Given the description of an element on the screen output the (x, y) to click on. 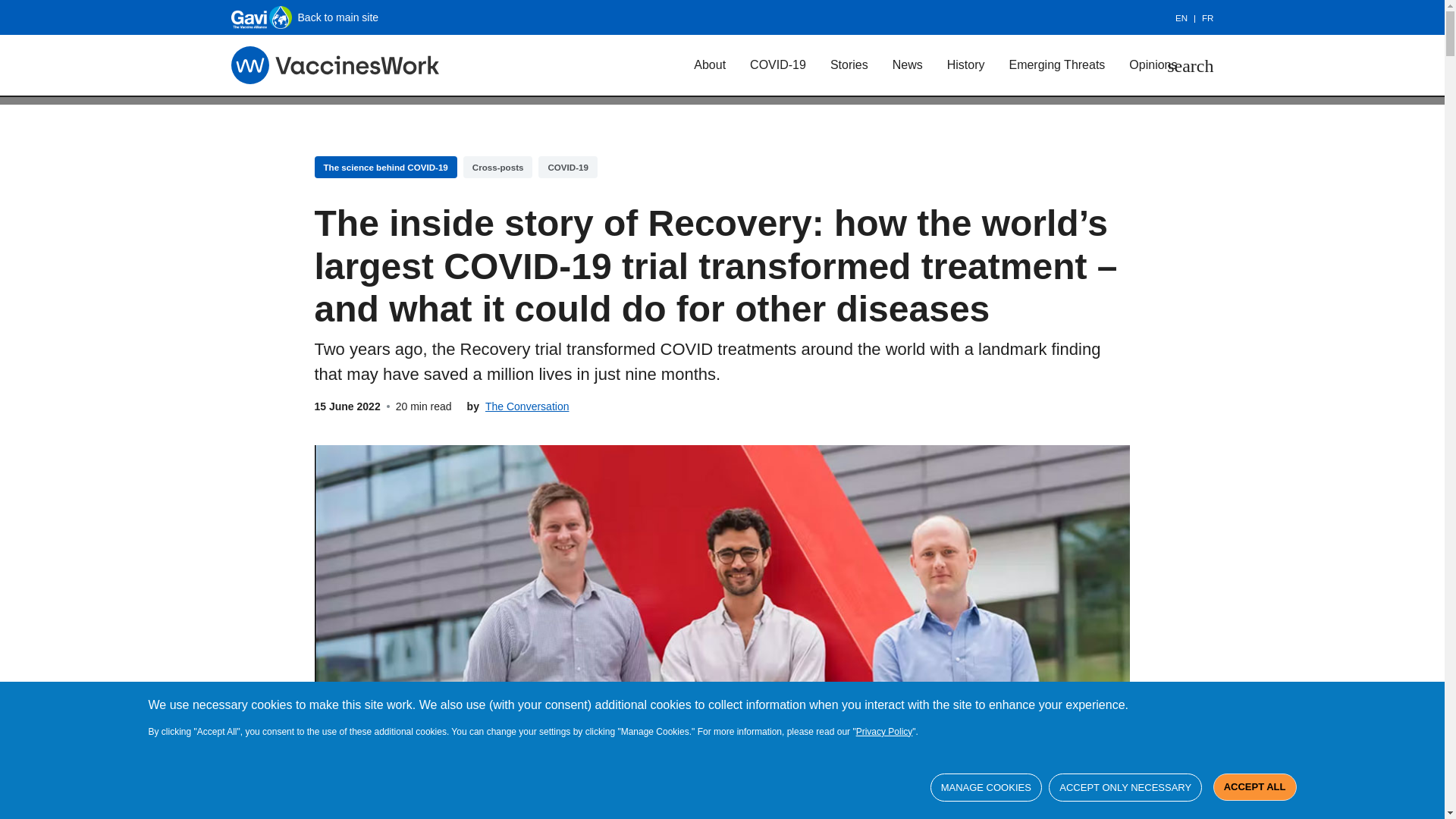
Cross-posts (497, 167)
Back to main site (304, 16)
Opinions (1152, 64)
The science behind COVID-19 (385, 167)
Emerging Threats (1055, 64)
EN (1188, 17)
FR (1207, 17)
COVID-19 (567, 167)
COVID-19 (778, 64)
News (907, 64)
Stories (849, 64)
Privacy policy (884, 731)
About (709, 64)
The Conversation (526, 406)
History (965, 64)
